Given the description of an element on the screen output the (x, y) to click on. 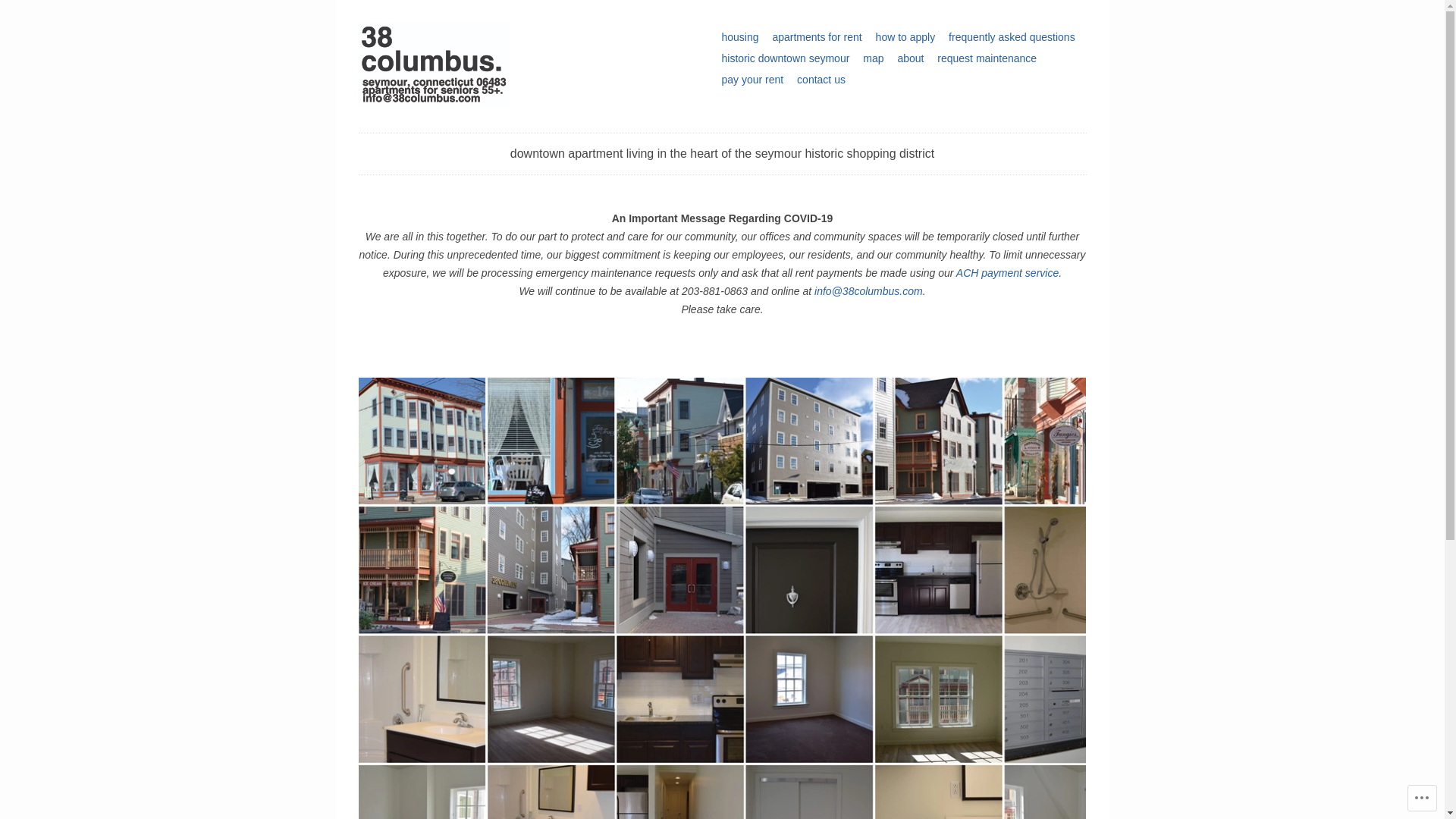
about Element type: text (909, 58)
map Element type: text (872, 58)
housing Element type: text (739, 36)
apartments for rent Element type: text (816, 36)
info@38columbus.com Element type: text (868, 291)
pay your rent Element type: text (751, 79)
ACH payment service Element type: text (1007, 272)
contact us Element type: text (820, 79)
historic downtown seymour Element type: text (784, 58)
request maintenance Element type: text (986, 58)
frequently asked questions Element type: text (1011, 36)
how to apply Element type: text (905, 36)
